Given the description of an element on the screen output the (x, y) to click on. 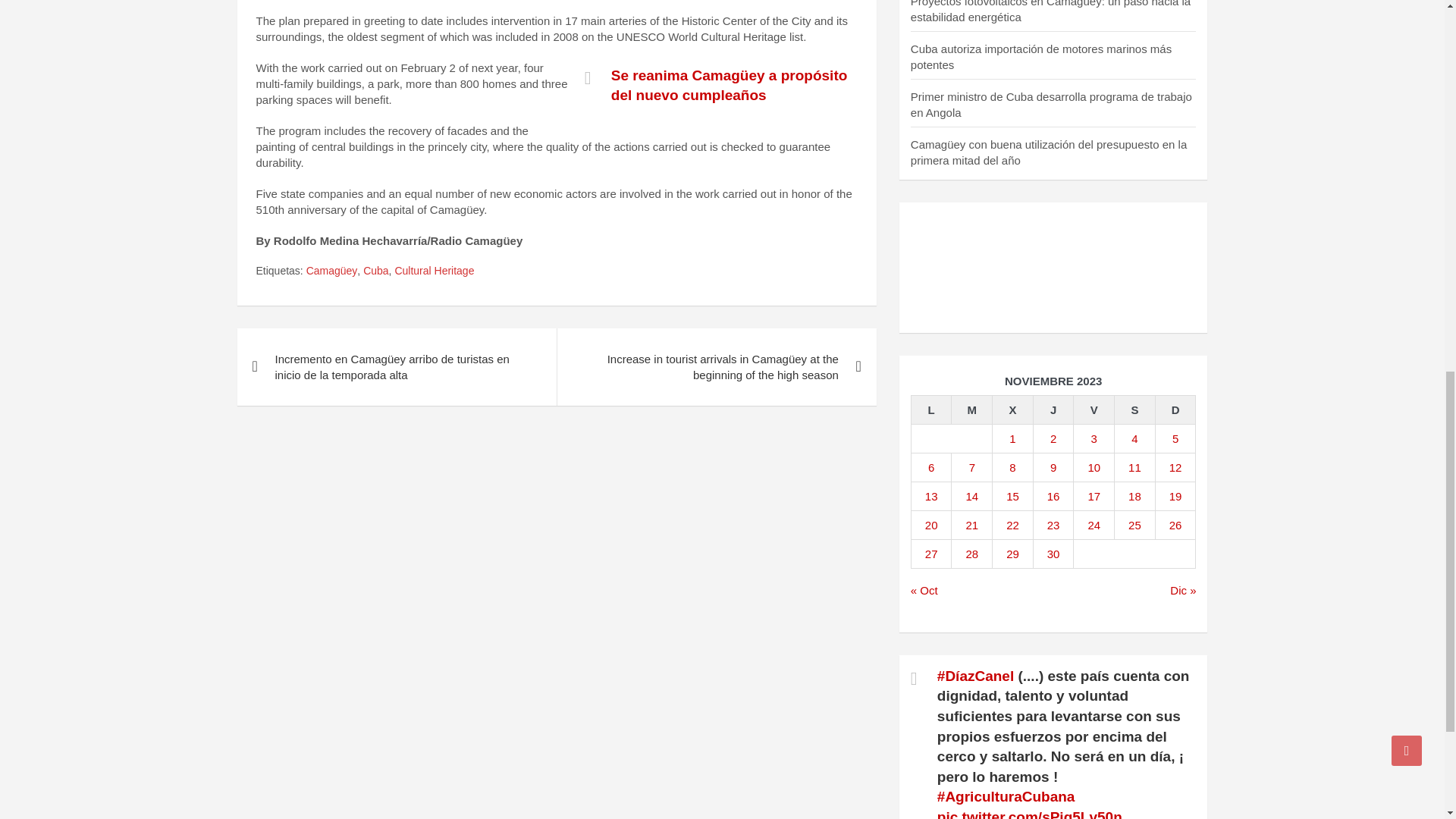
domingo (1174, 409)
Cultural Heritage (434, 271)
martes (972, 409)
lunes (931, 409)
jueves (1053, 409)
Cuba (375, 271)
viernes (1094, 409)
